Given the description of an element on the screen output the (x, y) to click on. 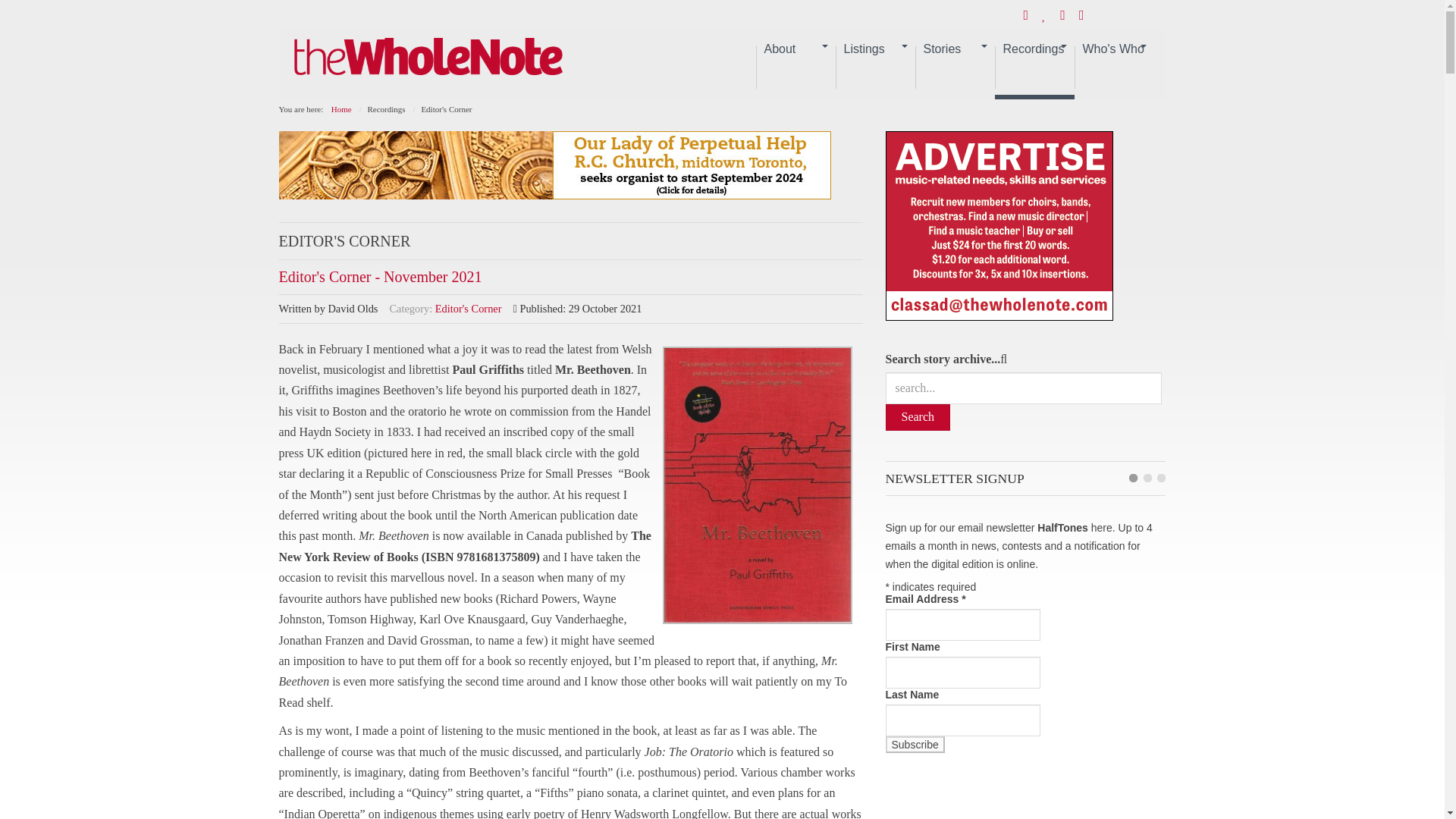
Editor's Corner - November 2021 (380, 276)
Subscribe (914, 744)
The WholeNote (428, 58)
